Given the description of an element on the screen output the (x, y) to click on. 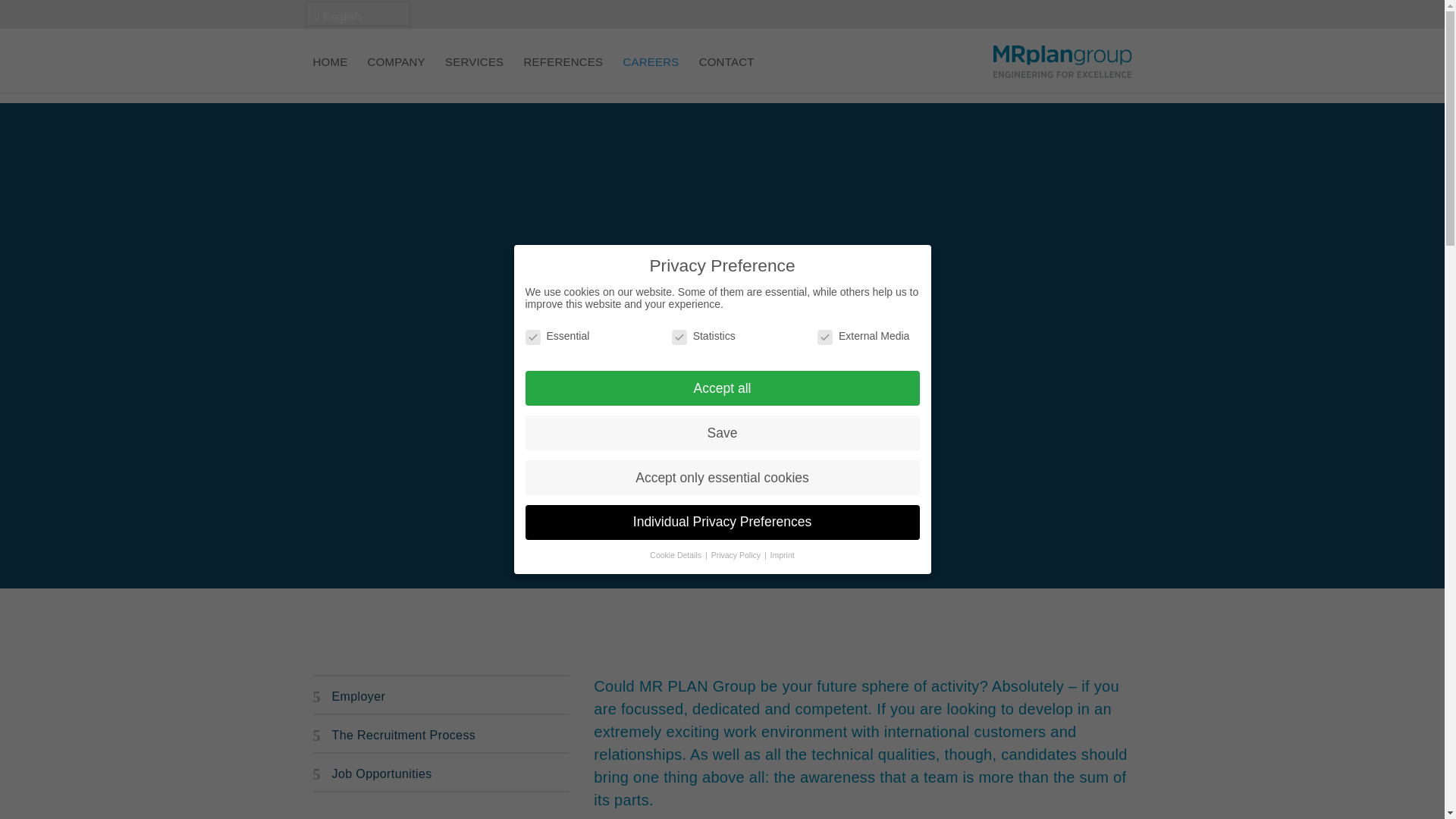
COMPANY (396, 73)
CONTACT (726, 73)
English (356, 13)
Save (721, 432)
SERVICES (474, 73)
Job Opportunities (441, 774)
Employer (441, 696)
The Recruitment Process (441, 735)
CAREERS (650, 73)
REFERENCES (564, 73)
